Given the description of an element on the screen output the (x, y) to click on. 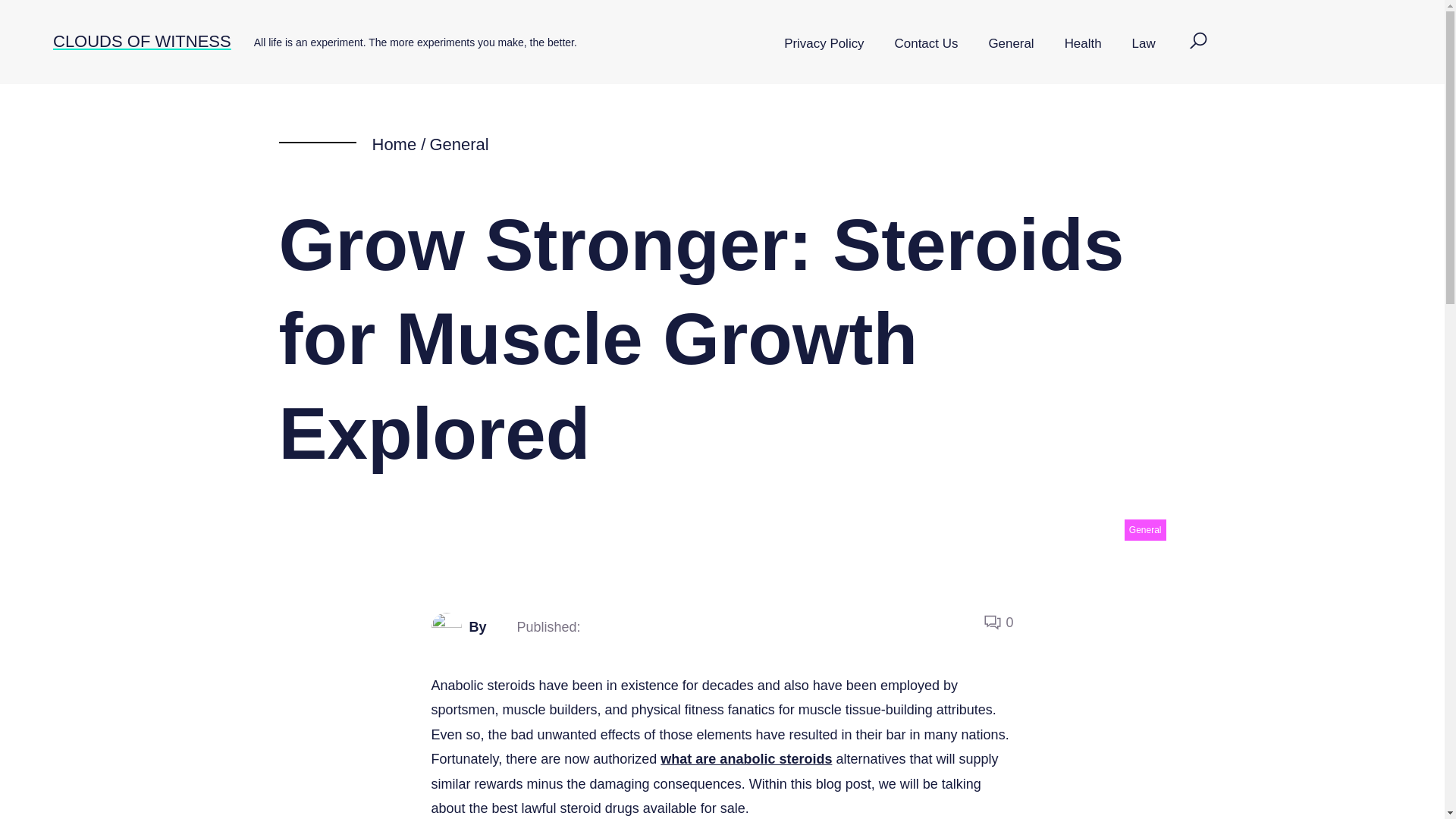
CLOUDS OF WITNESS (141, 40)
Contact Us (926, 43)
General (1145, 529)
what are anabolic steroids (746, 758)
General (1010, 43)
General (458, 144)
Privacy Policy (823, 43)
Health (1082, 43)
Home (393, 144)
